Given the description of an element on the screen output the (x, y) to click on. 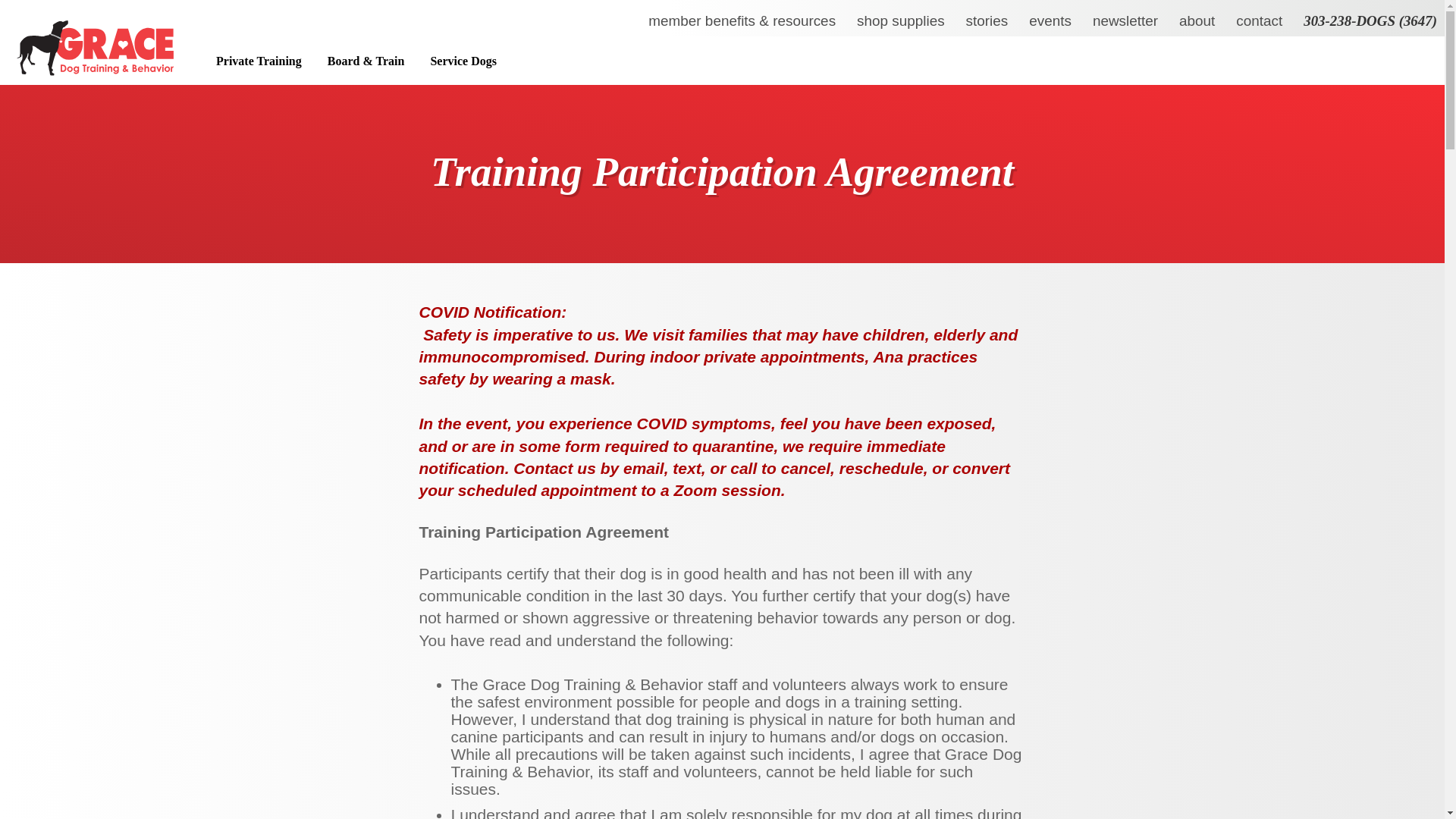
events (1049, 21)
contact (1258, 21)
newsletter (1125, 21)
Private Training (256, 64)
shop supplies (900, 21)
stories (987, 21)
about (1197, 21)
Service Dogs (460, 64)
